Given the description of an element on the screen output the (x, y) to click on. 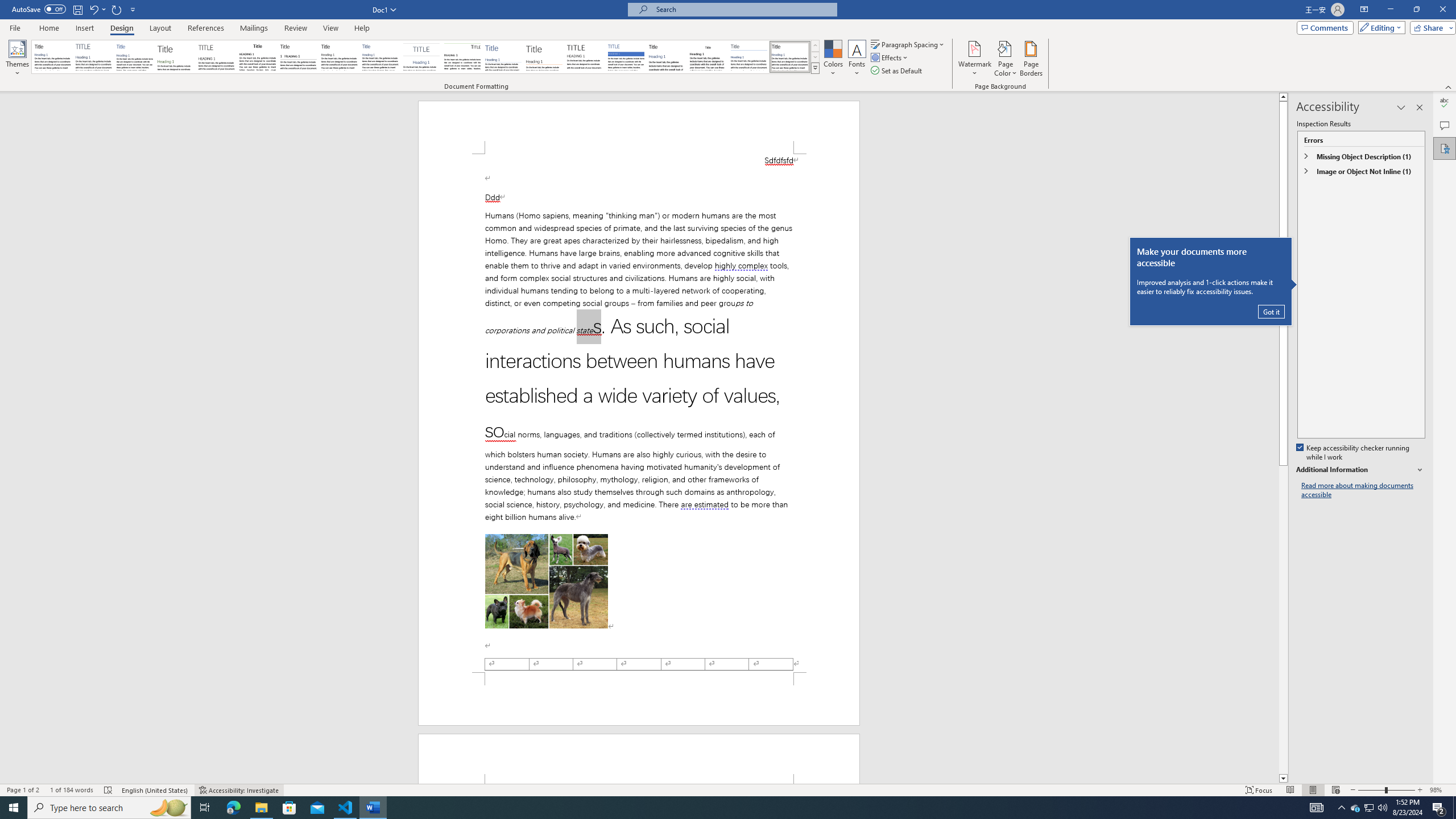
Got it (1270, 311)
Paragraph Spacing (908, 44)
Keep accessibility checker running while I work (1353, 452)
Undo Apply Quick Style Set (92, 9)
Quick Access Toolbar (74, 9)
Microsoft search (742, 9)
Close pane (1419, 107)
Minimalist (584, 56)
Themes (17, 58)
AutomationID: QuickStylesSets (425, 56)
Row Down (814, 56)
